Given the description of an element on the screen output the (x, y) to click on. 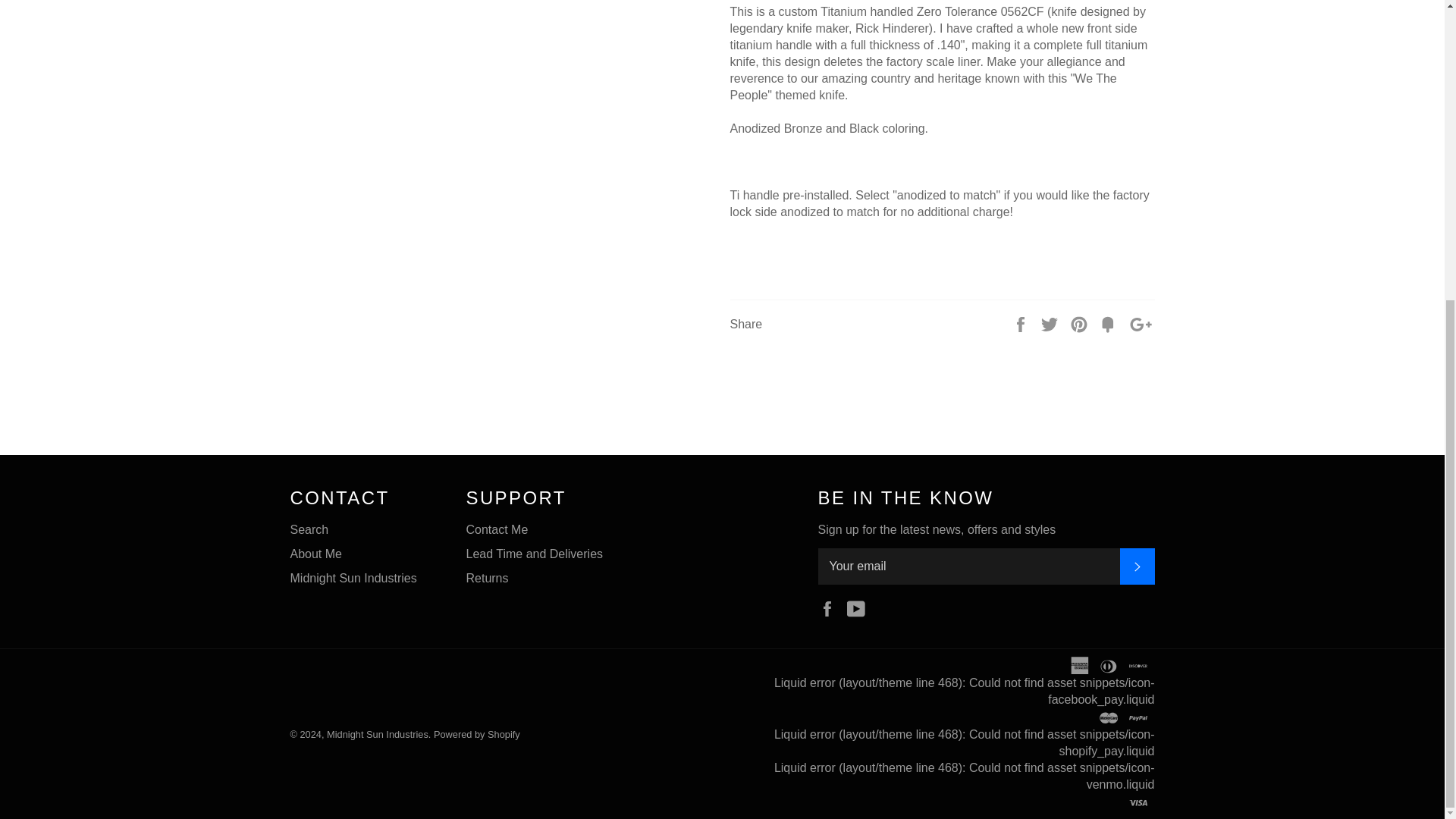
Midnight Sun Industries on YouTube (859, 607)
Pin it (1080, 323)
Share (1021, 323)
Fancy (1109, 323)
Midnight Sun Industries on Facebook (829, 607)
Tweet (1051, 323)
